Given the description of an element on the screen output the (x, y) to click on. 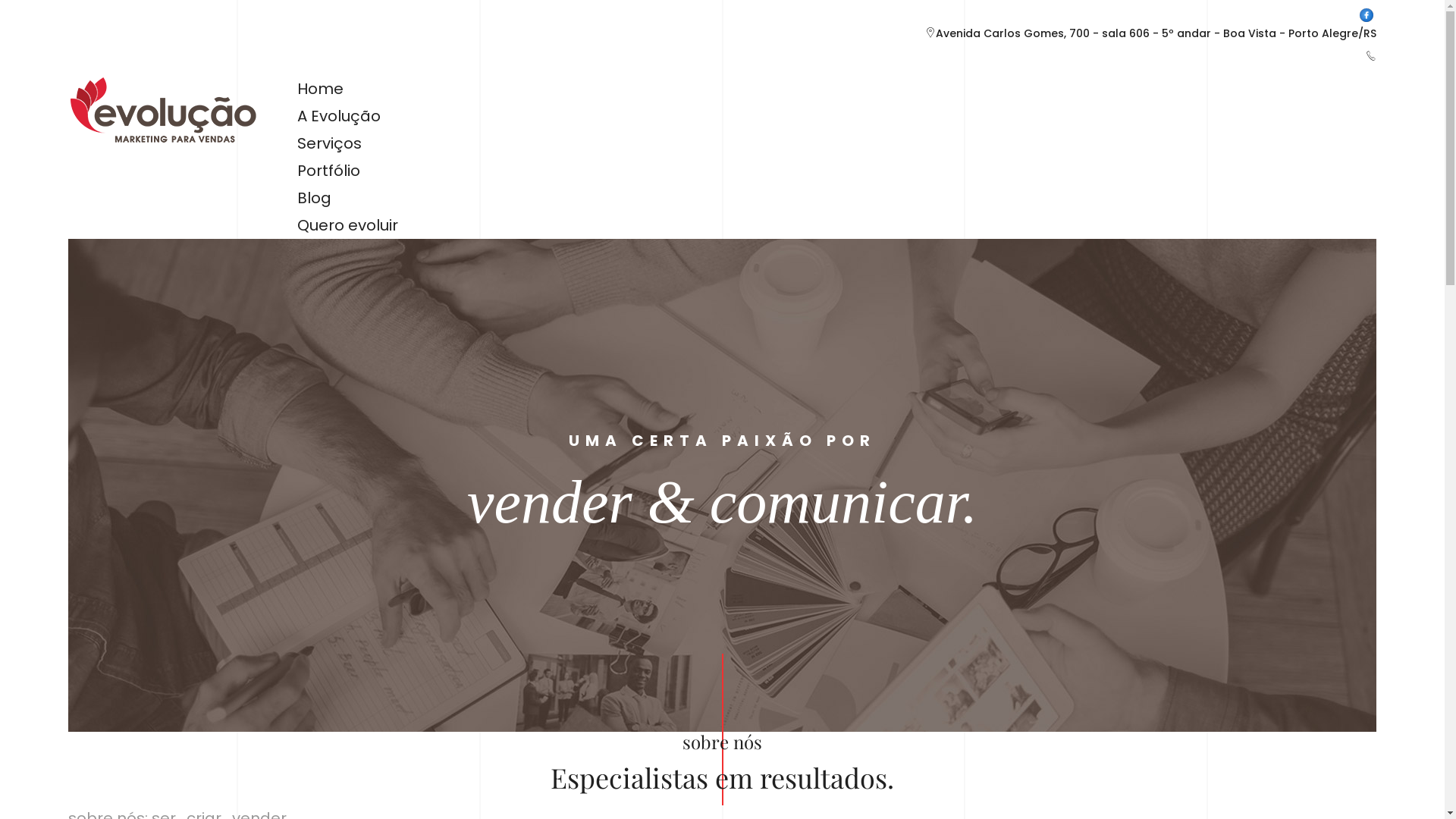
Home Element type: text (320, 88)
Blog Element type: text (314, 197)
Quero evoluir Element type: text (347, 224)
